Given the description of an element on the screen output the (x, y) to click on. 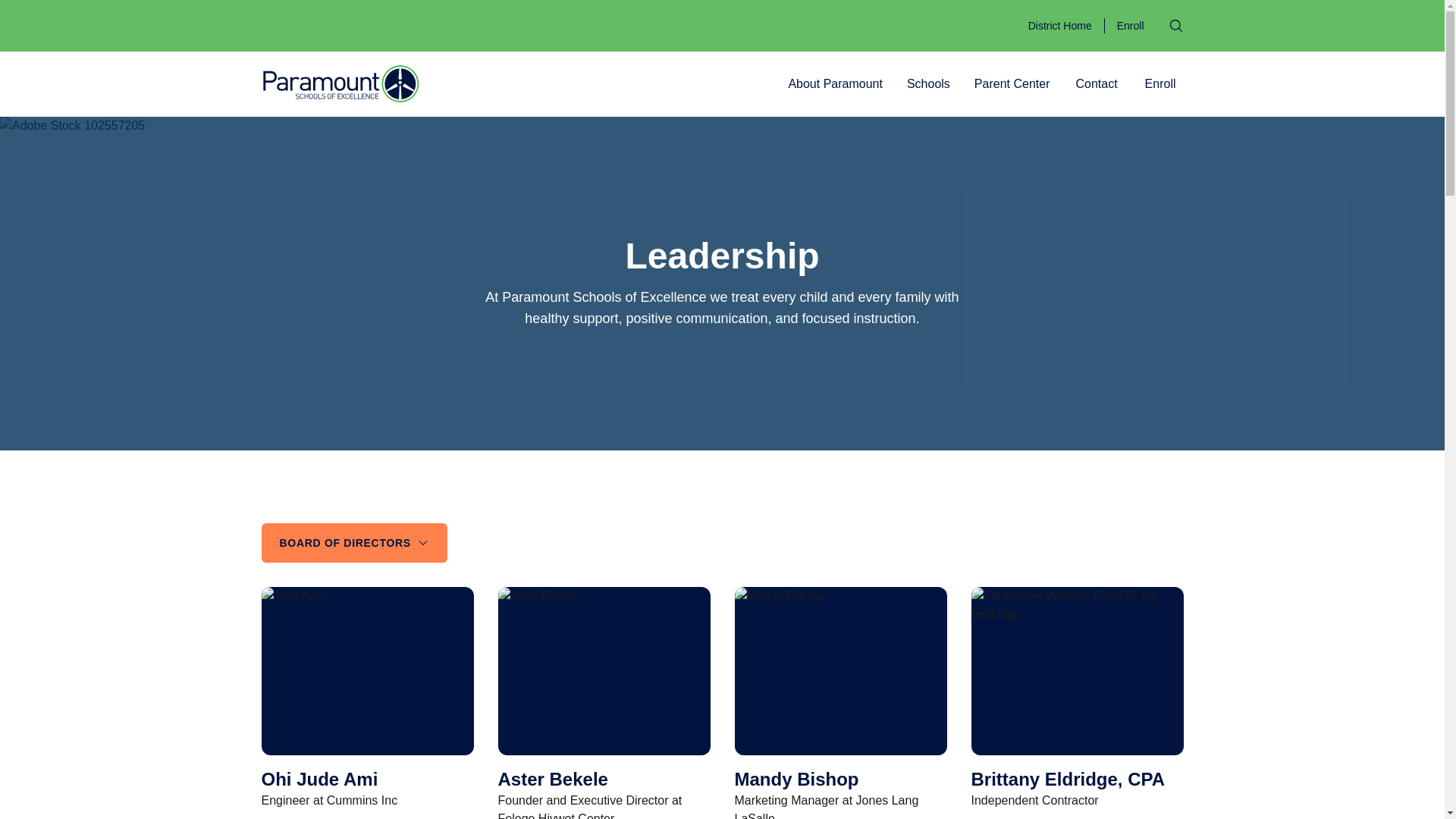
Enroll (1160, 83)
Enroll (1130, 25)
Parent Center (1012, 83)
Contact (1095, 83)
District Home (1059, 25)
About Paramount (834, 83)
Schools (928, 83)
